Given the description of an element on the screen output the (x, y) to click on. 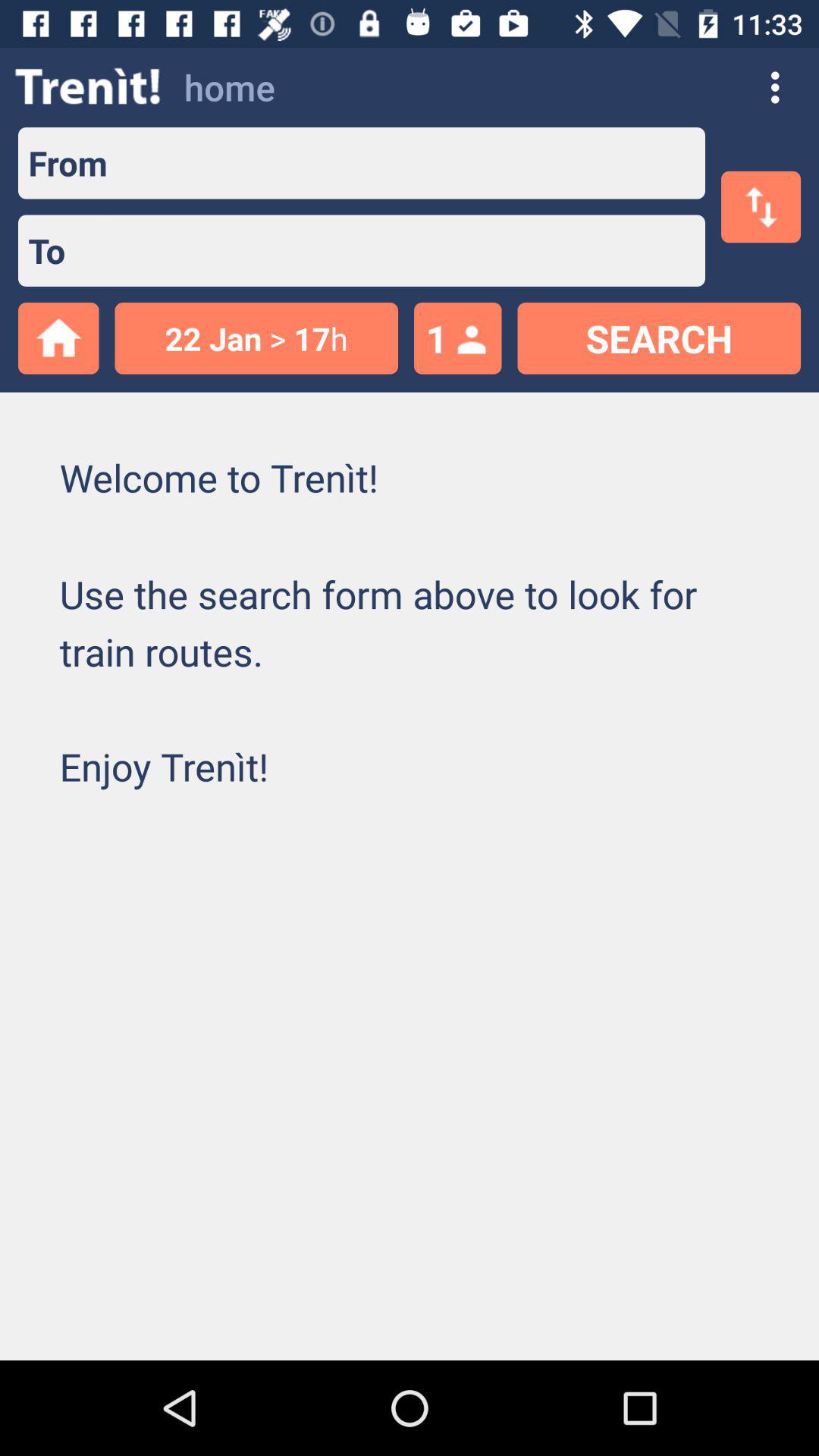
choose item below the to icon (256, 338)
